Given the description of an element on the screen output the (x, y) to click on. 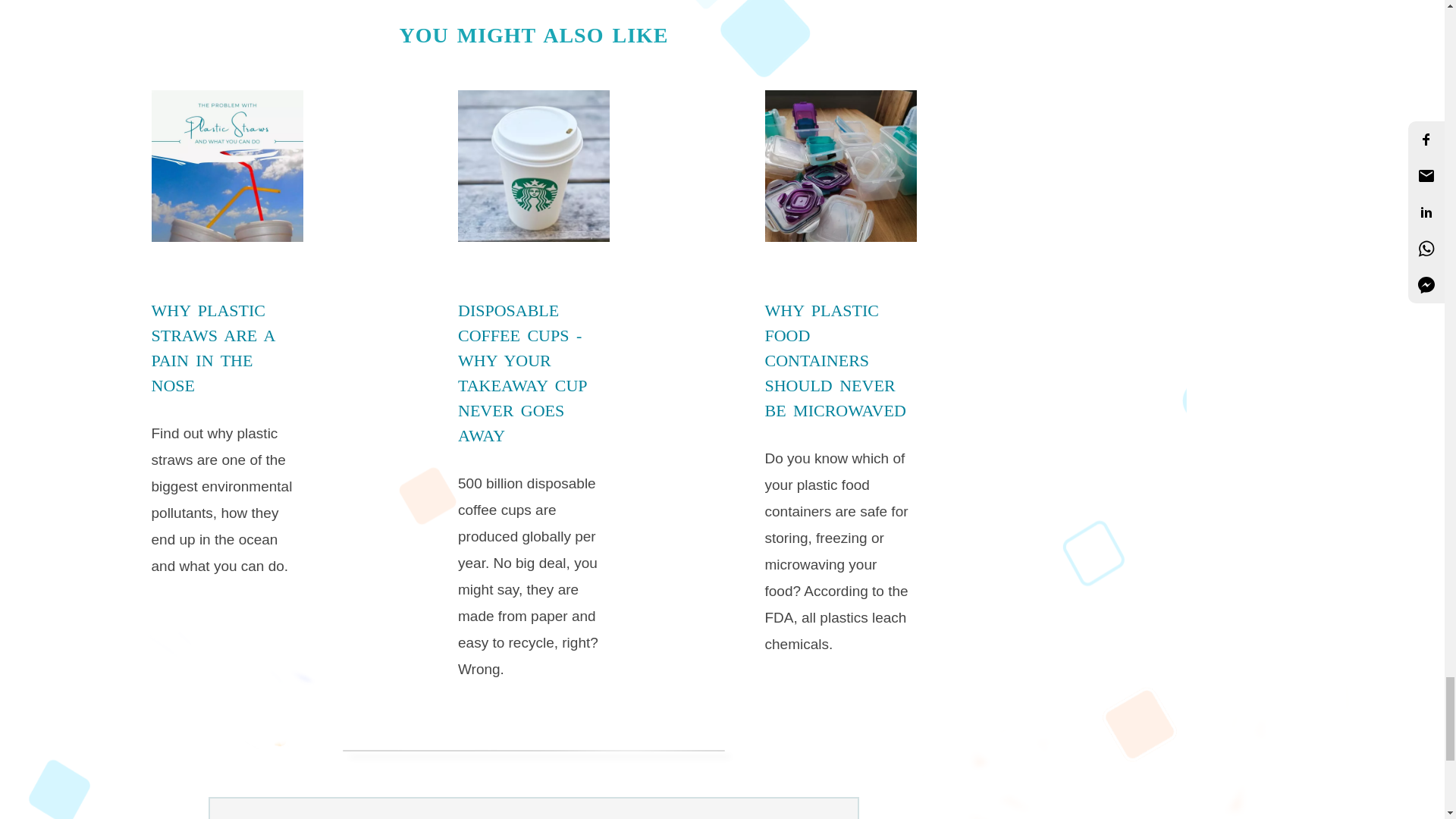
WHY PLASTIC STRAWS ARE A PAIN IN THE NOSE (213, 347)
